Given the description of an element on the screen output the (x, y) to click on. 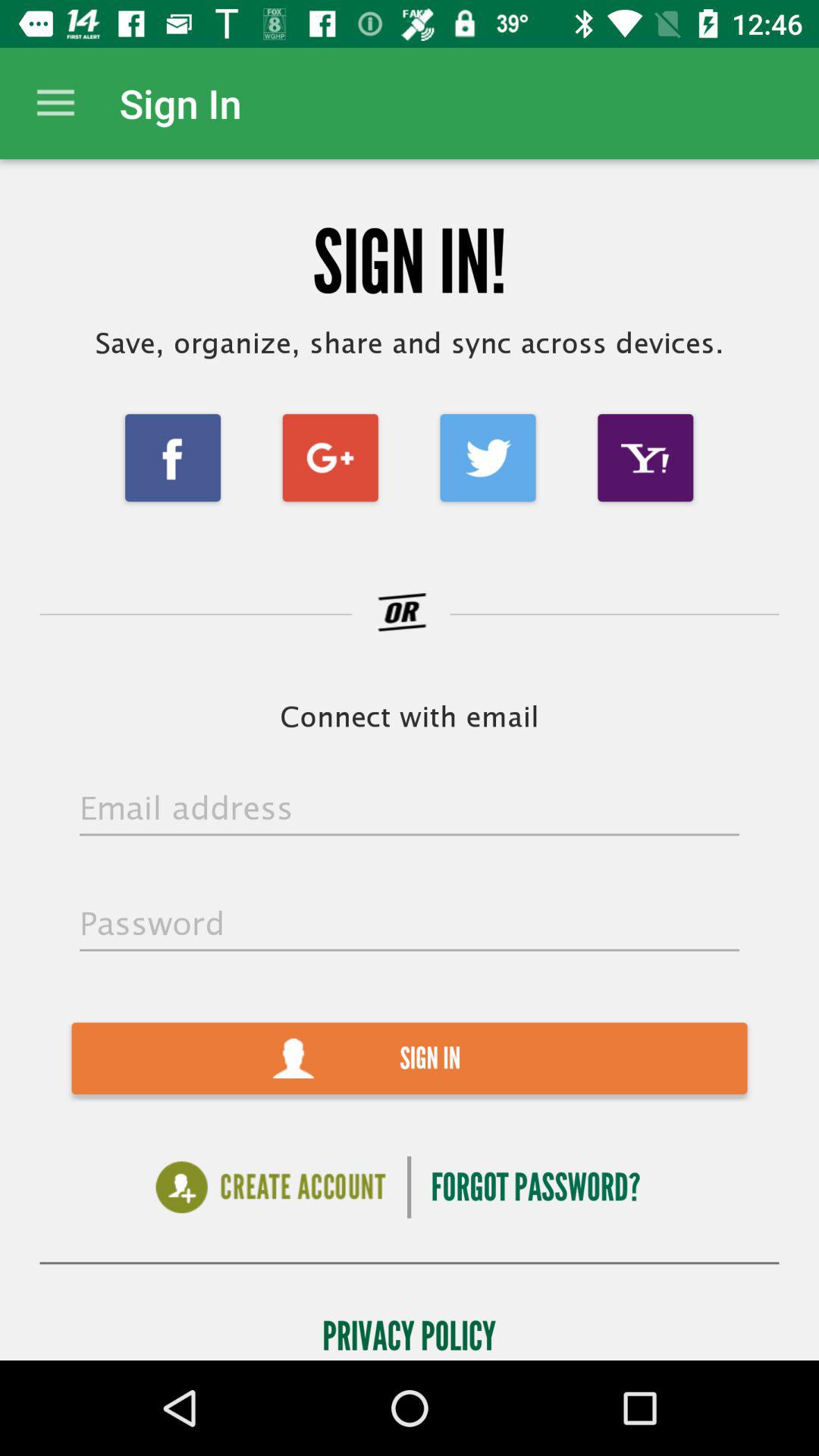
enter email address (409, 809)
